Given the description of an element on the screen output the (x, y) to click on. 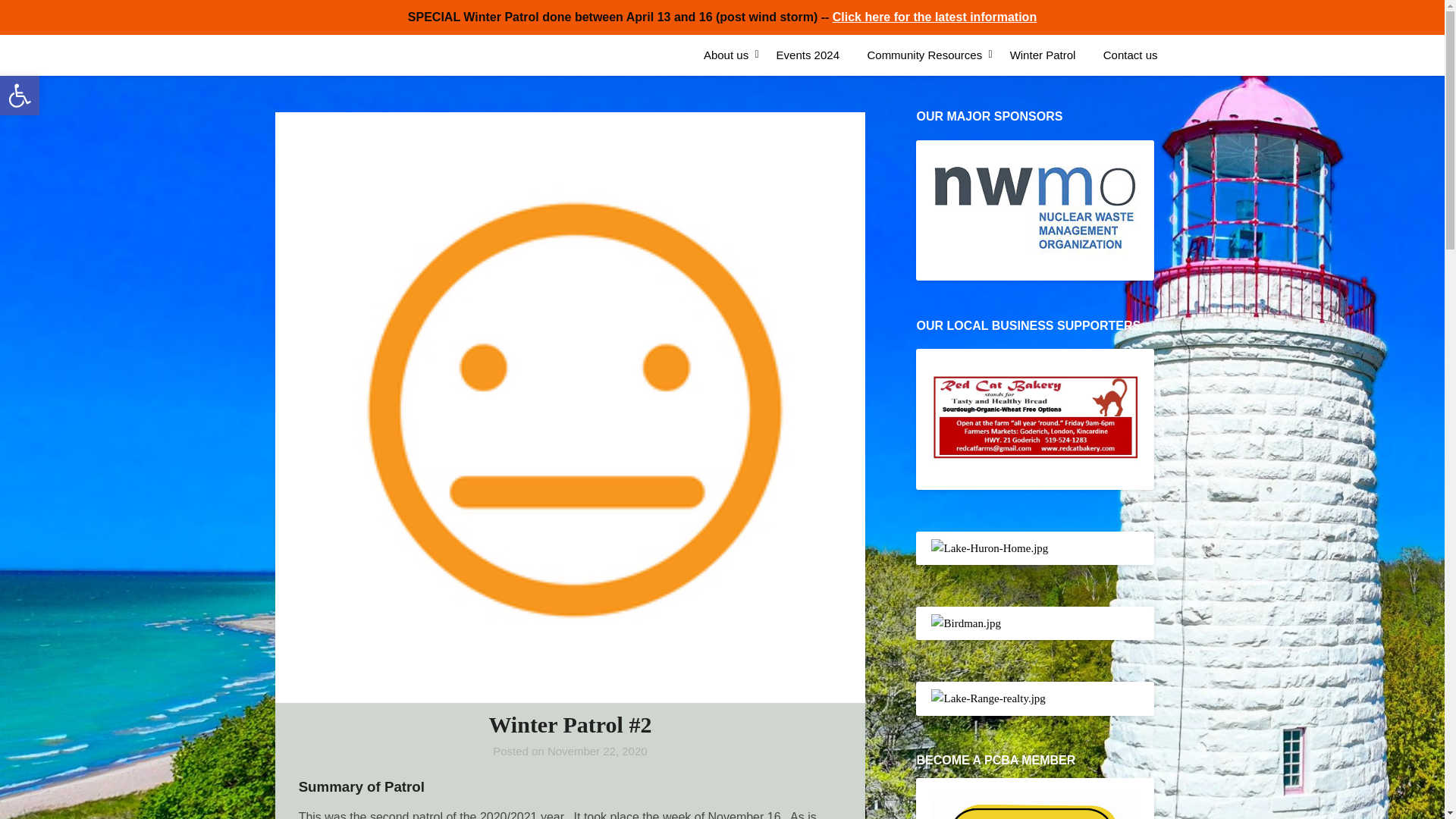
Point Clark Beach Association (395, 53)
Winter Patrol (1042, 55)
Community Resources (924, 55)
November 22, 2020 (597, 750)
Click here for the latest information (934, 16)
About us (19, 95)
Events 2024 (731, 55)
Contact us (807, 55)
Accessibility Tools (1130, 55)
Accessibility Tools (19, 95)
